Given the description of an element on the screen output the (x, y) to click on. 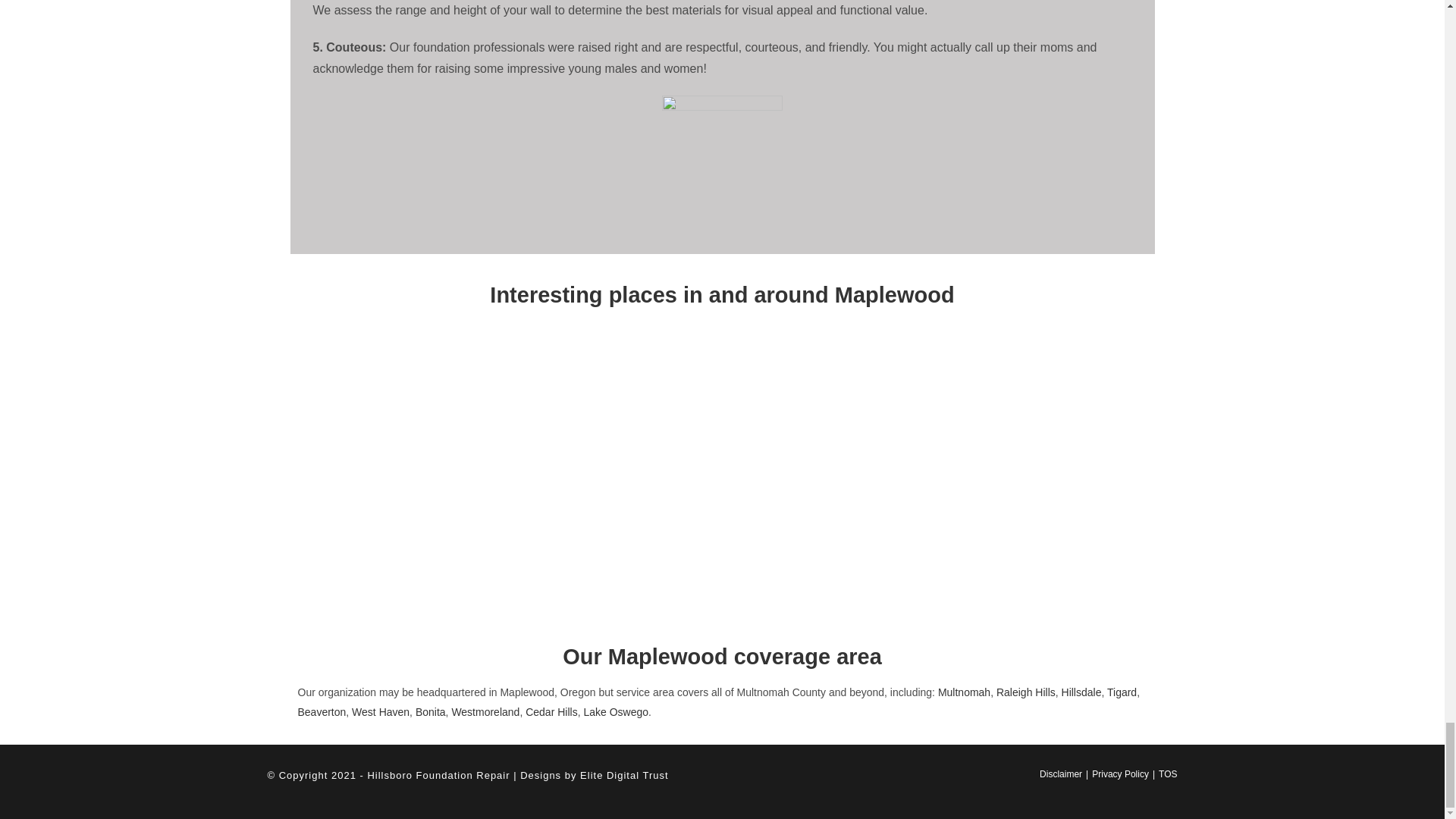
Bonita (429, 711)
Cedar Hills (550, 711)
Tigard (1121, 692)
West Haven (380, 711)
Beaverton (321, 711)
Westmoreland (485, 711)
Privacy Policy (1120, 774)
Multnomah (963, 692)
Hillsdale (1081, 692)
Disclaimer (1060, 774)
Lake Oswego (615, 711)
Raleigh Hills (1025, 692)
